Given the description of an element on the screen output the (x, y) to click on. 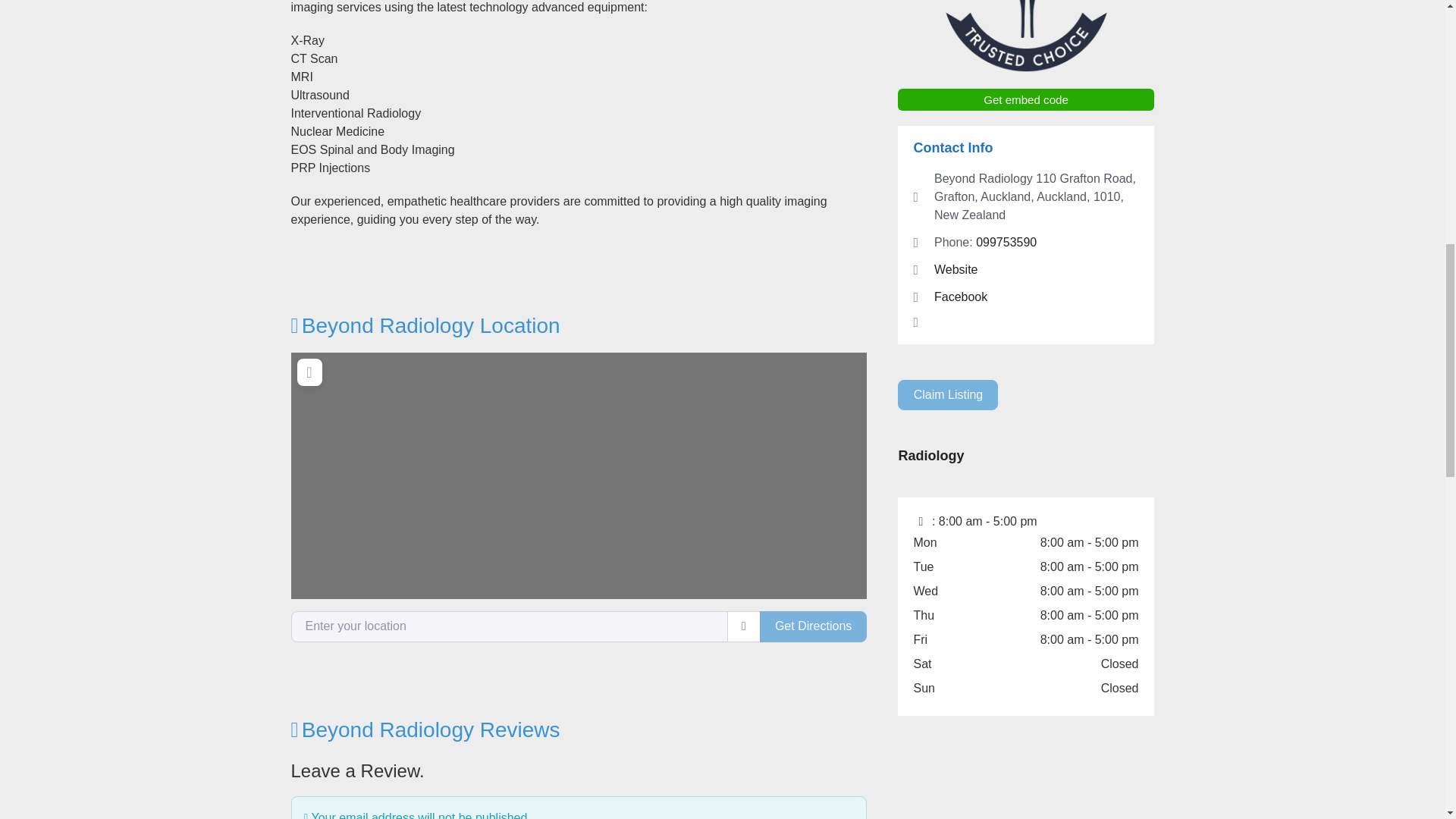
use my location (743, 625)
Beyond Radiology Location (425, 325)
Expand opening hours (987, 521)
